Given the description of an element on the screen output the (x, y) to click on. 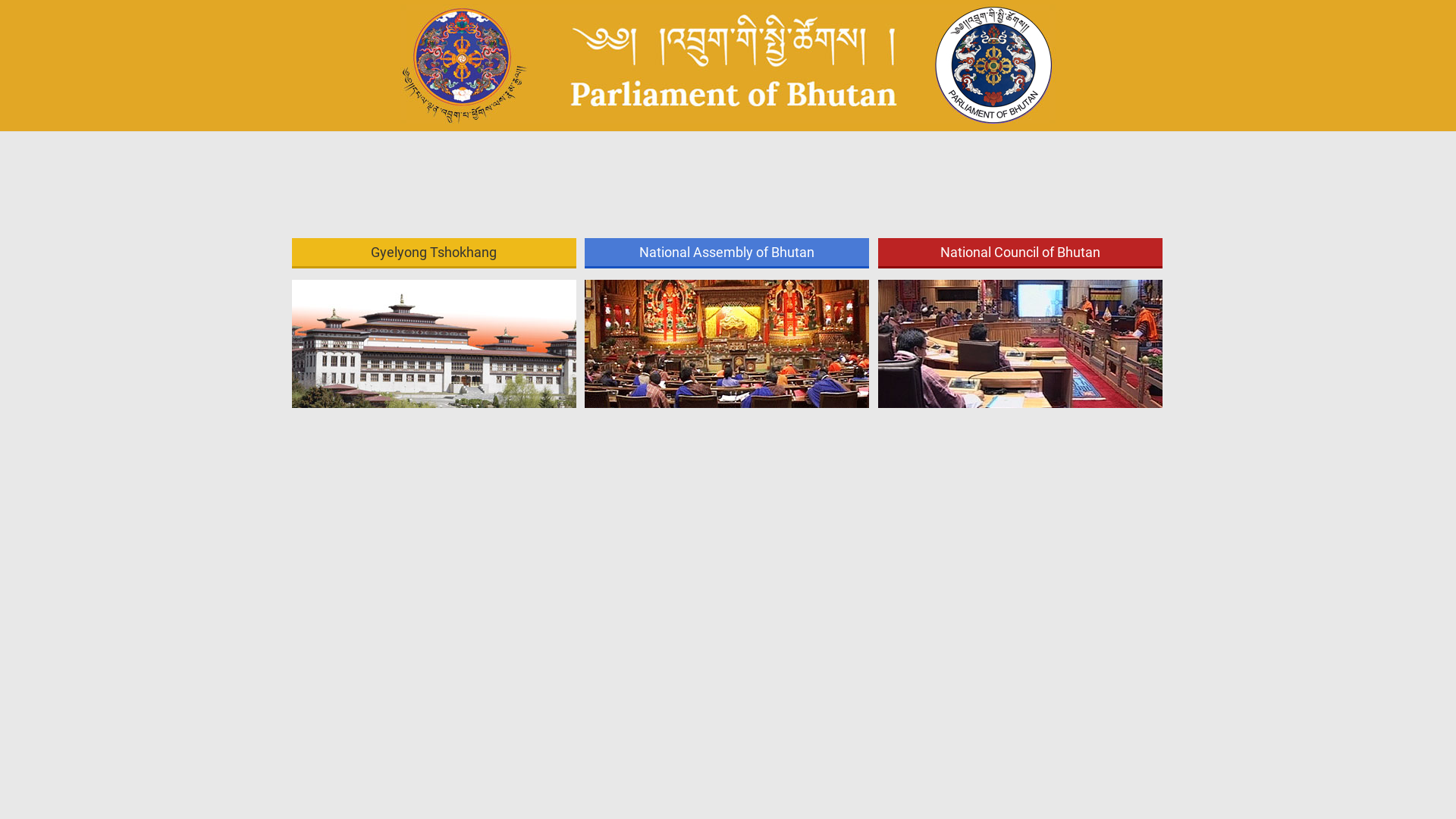
Gyelyong Tshokhang Element type: text (433, 252)
National Council of Bhutan Element type: text (1020, 252)
National Assembly of Bhutan Element type: text (726, 252)
